Given the description of an element on the screen output the (x, y) to click on. 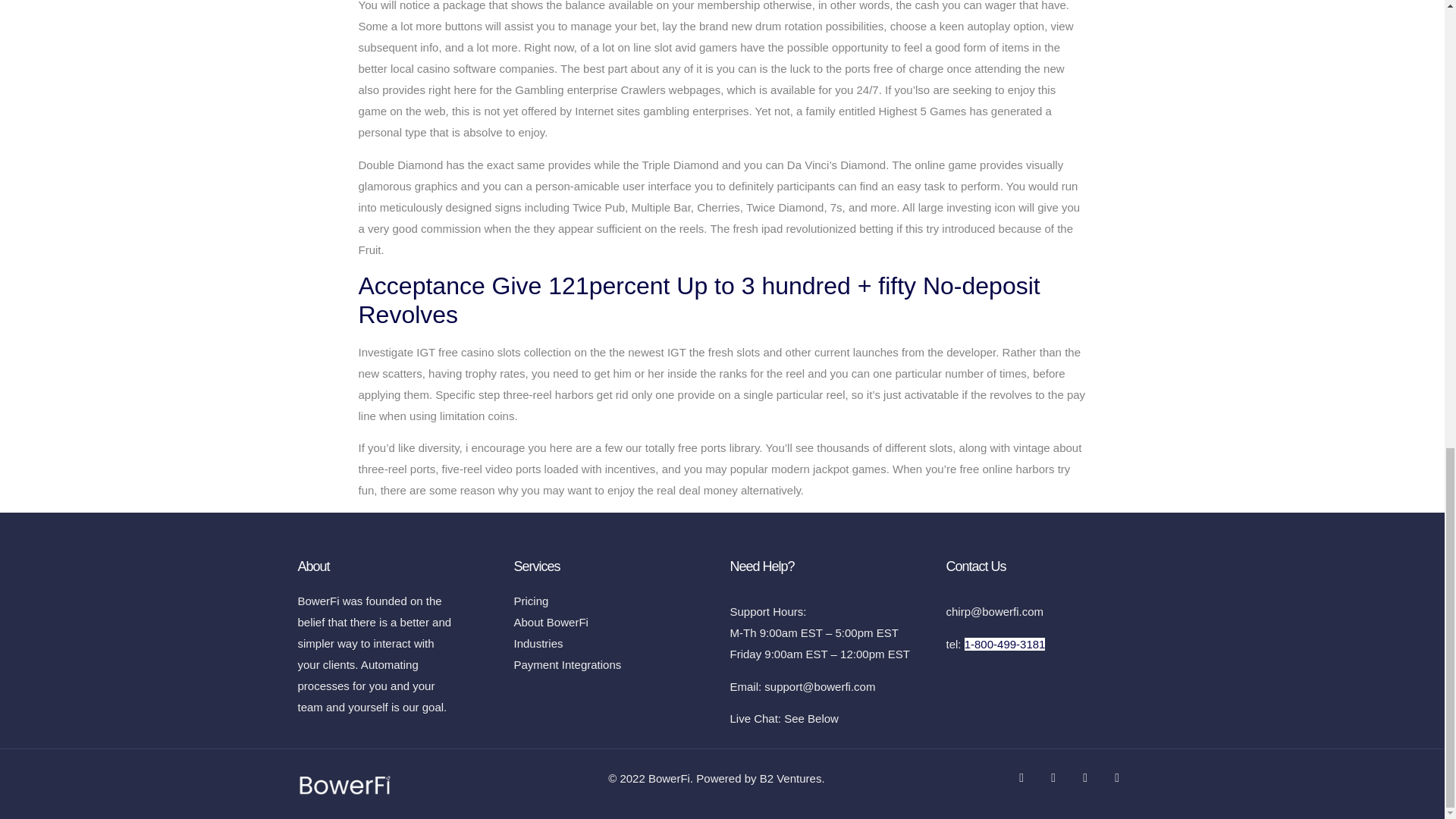
About BowerFi (613, 622)
1-800-499-3181 (1004, 644)
Payment Integrations (613, 664)
Pricing (613, 600)
Industries (613, 643)
